Given the description of an element on the screen output the (x, y) to click on. 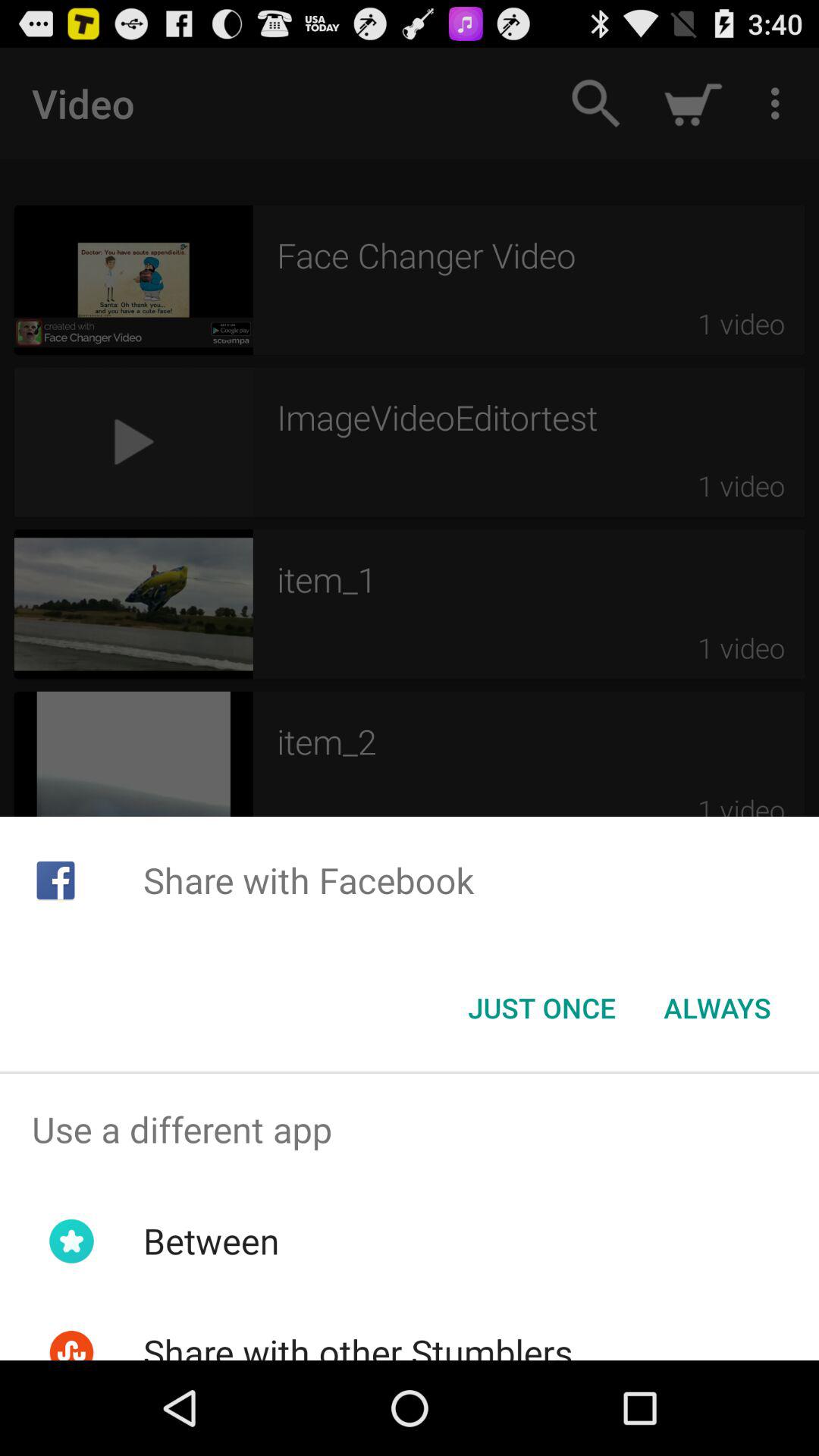
swipe to the use a different (409, 1129)
